Given the description of an element on the screen output the (x, y) to click on. 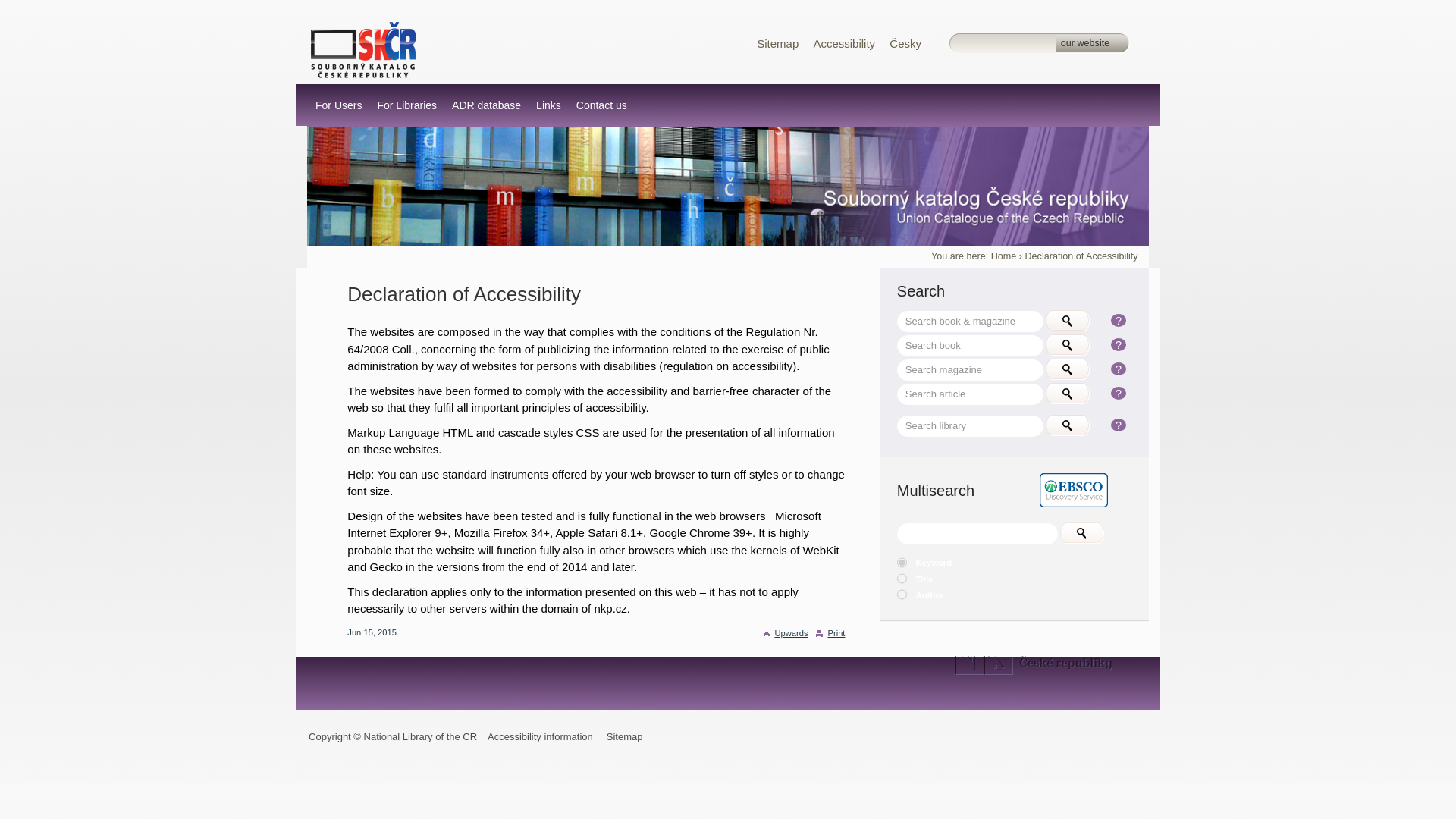
Contact us (601, 105)
? (1117, 319)
TI (901, 578)
Logo (363, 49)
hledat (1067, 322)
our website (1085, 43)
For Libraries (406, 105)
? (1117, 392)
Links (548, 105)
caslin (363, 49)
hledat (1067, 395)
Home (1003, 255)
hledat (1067, 426)
ADR database (486, 105)
